Given the description of an element on the screen output the (x, y) to click on. 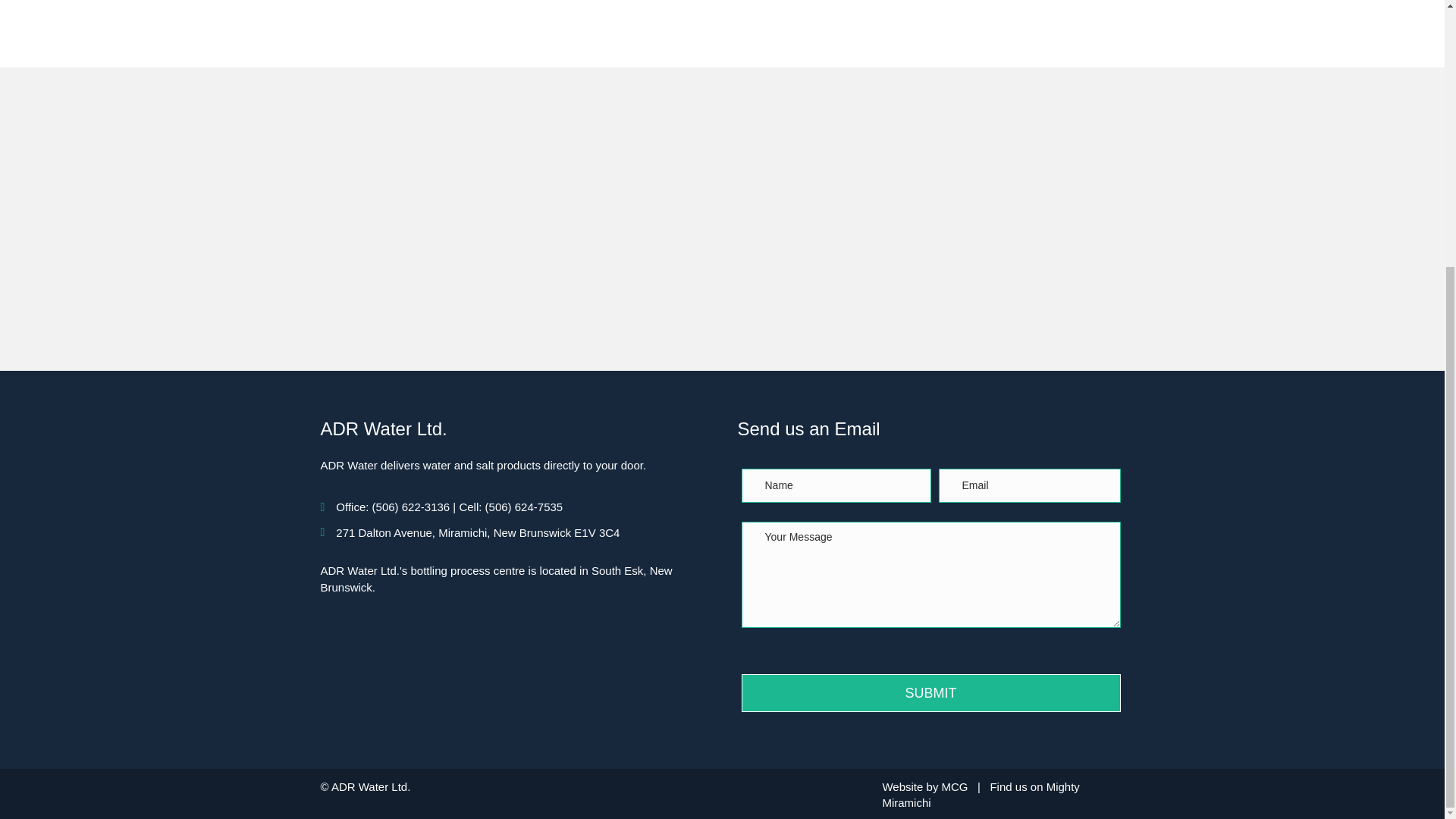
MCG (955, 786)
SUBMIT (931, 692)
Mighty Miramichi (980, 794)
